Given the description of an element on the screen output the (x, y) to click on. 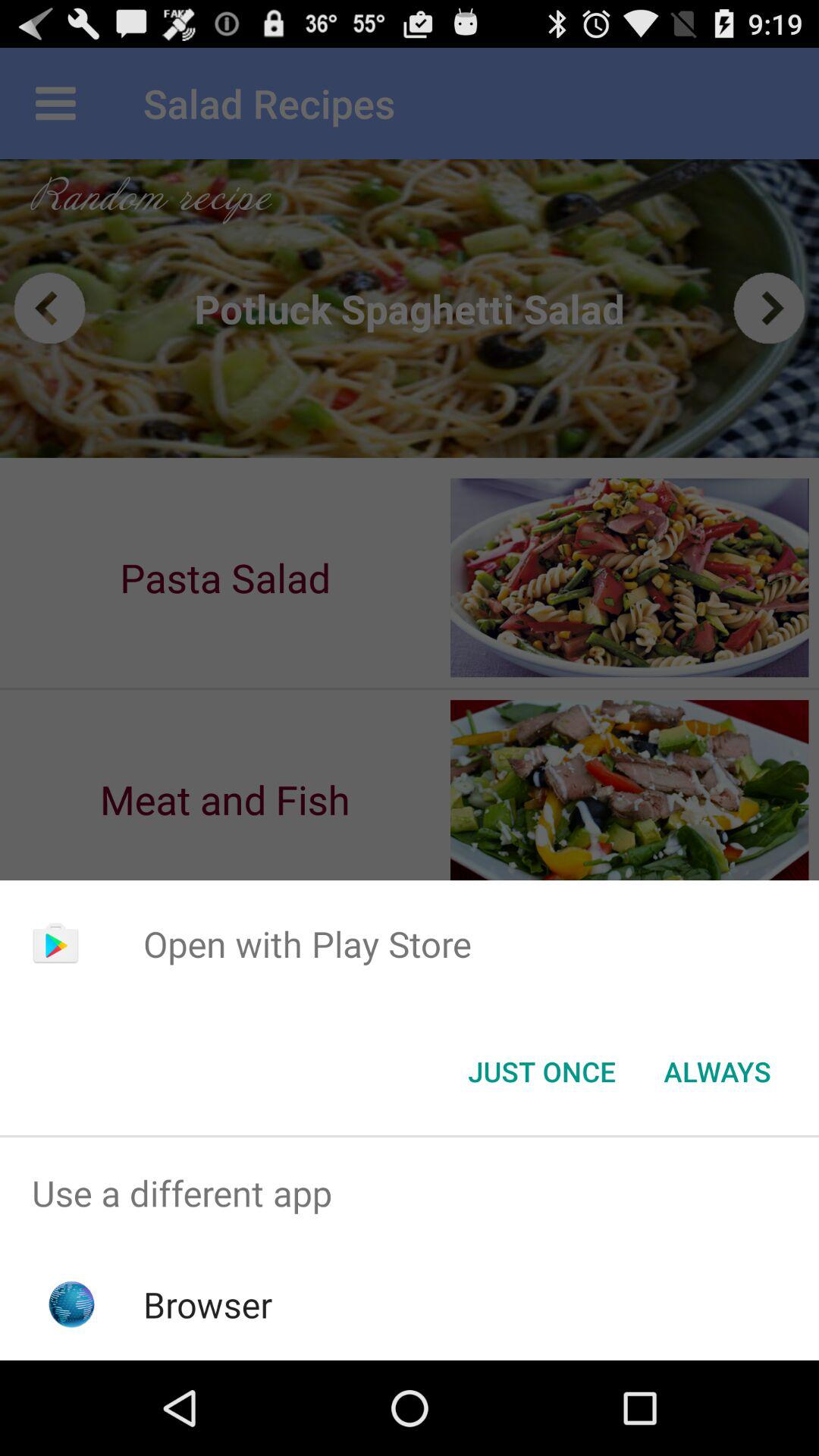
turn off the icon to the right of the just once button (717, 1071)
